Given the description of an element on the screen output the (x, y) to click on. 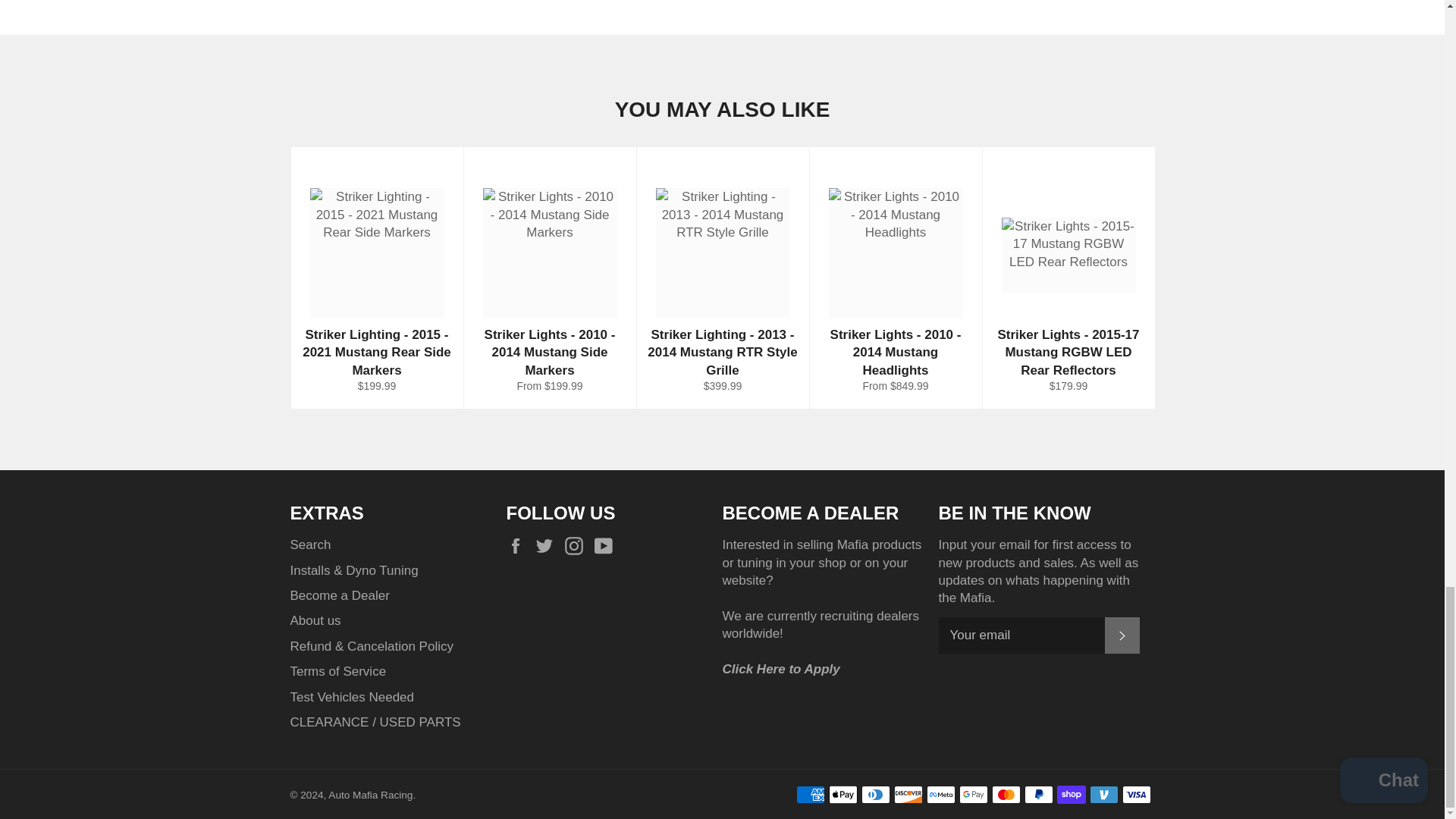
Auto Mafia Racing on Instagram (577, 545)
Mafia Dealer Application Link (781, 668)
Auto Mafia Racing on YouTube (607, 545)
Auto Mafia Racing on Facebook (519, 545)
Auto Mafia Racing on Twitter (547, 545)
